Given the description of an element on the screen output the (x, y) to click on. 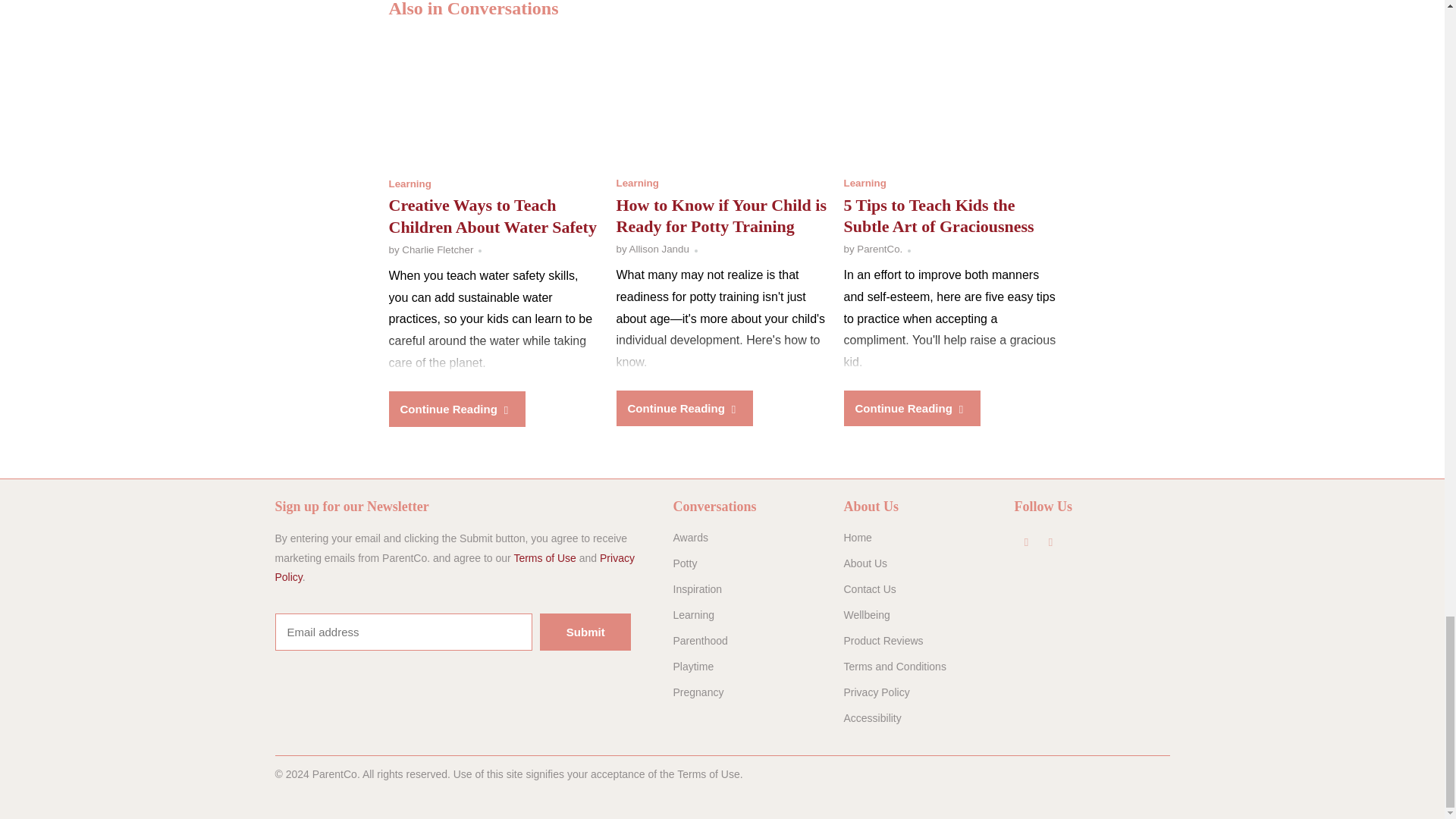
5 Tips to Teach Kids the Subtle Art of Graciousness (949, 102)
Creative Ways to Teach Children About Water Safety (491, 215)
Continue Reading (456, 408)
How to Know if Your Child is Ready for Potty Training (721, 102)
Conversations tagged Learning (636, 183)
Creative Ways to Teach Children About Water Safety (493, 102)
Learning (636, 183)
Submit (585, 631)
Learning (864, 183)
Conversations tagged Learning (864, 183)
Creative Ways to Teach Children About Water Safety (491, 215)
Continue Reading (911, 407)
5 Tips to Teach Kids the Subtle Art of Graciousness (938, 215)
Learning (409, 183)
Conversations tagged Learning (409, 183)
